Given the description of an element on the screen output the (x, y) to click on. 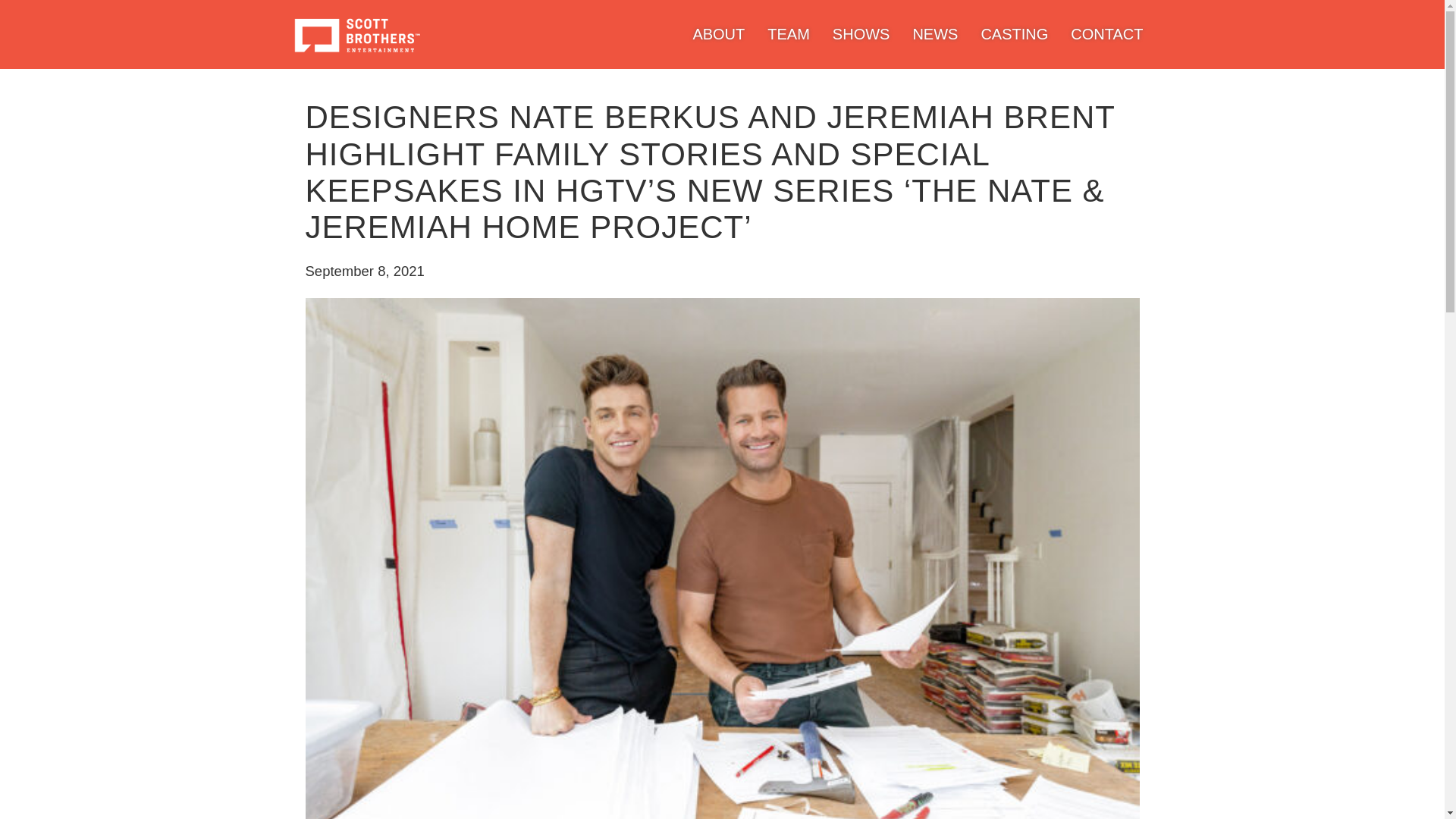
CONTACT (1106, 33)
NEWS (935, 33)
SHOWS (860, 33)
SCOTT BROTHERS ENTERTAINMENT (355, 34)
CASTING (1013, 33)
ABOUT (718, 33)
TEAM (788, 33)
